Given the description of an element on the screen output the (x, y) to click on. 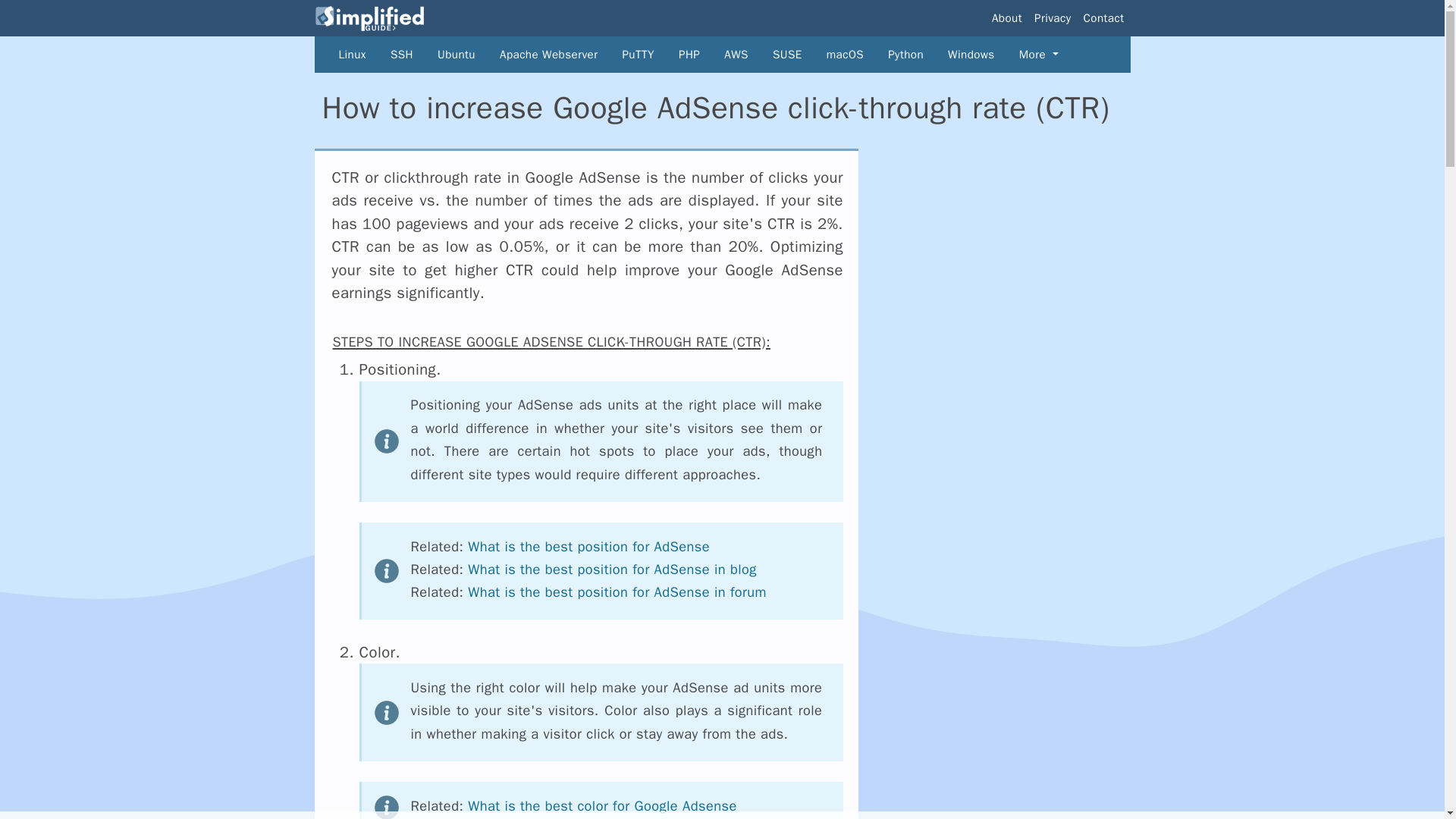
Python (893, 54)
PHP (676, 54)
SSH (389, 54)
macOS (833, 54)
PuTTY (624, 54)
SUSE (775, 54)
google-adsense:best-color (601, 805)
Ubuntu (444, 54)
Contact (1104, 18)
Privacy (1052, 18)
